Given the description of an element on the screen output the (x, y) to click on. 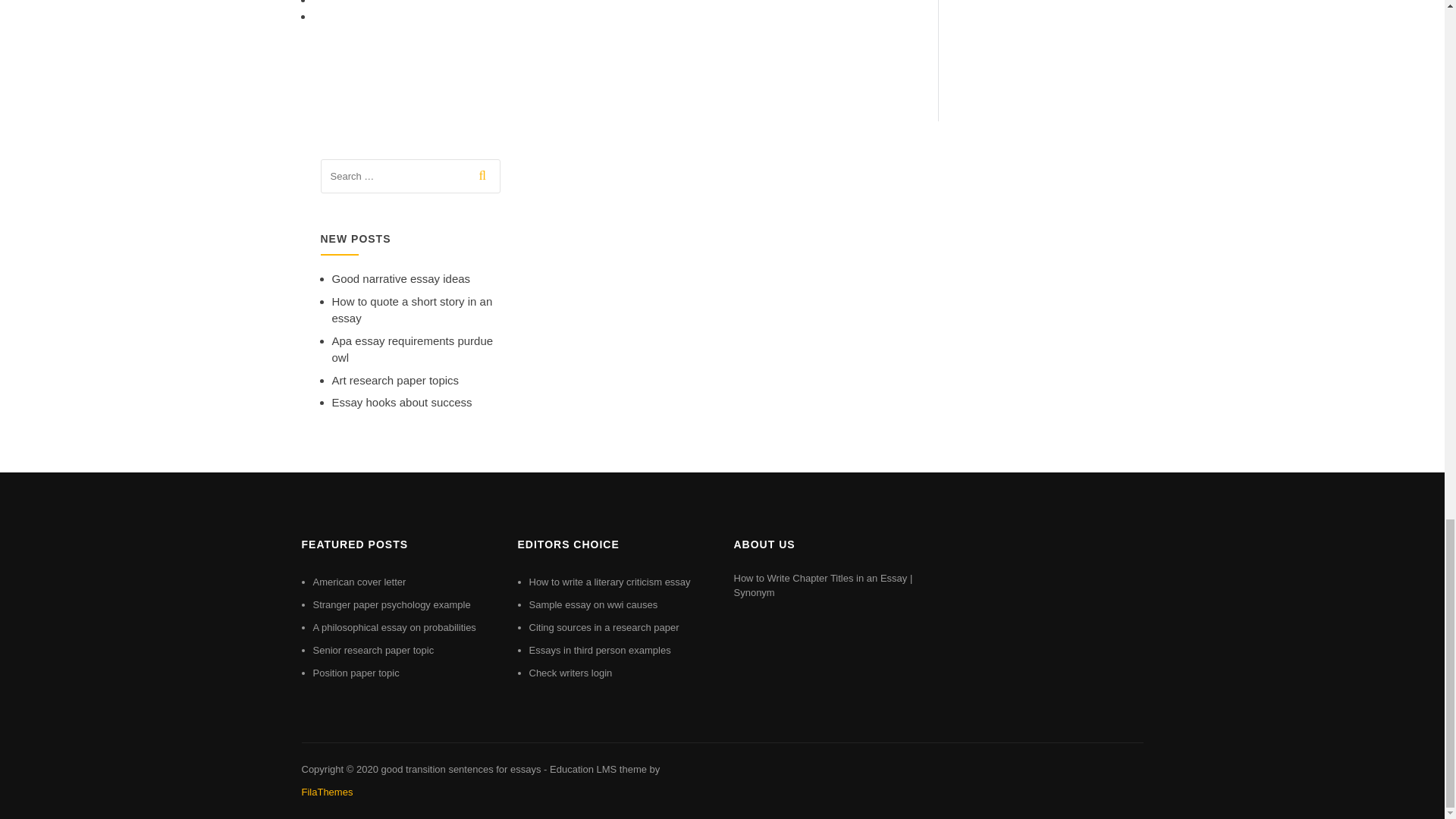
How to write a literary criticism essay (609, 582)
Good narrative essay ideas (400, 278)
How to quote a short story in an essay (412, 309)
Essay hooks about success (401, 401)
Art research paper topics (395, 379)
good transition sentences for essays (460, 768)
Sample essay on wwi causes (593, 604)
Apa essay requirements purdue owl (412, 349)
Position paper topic (355, 672)
A philosophical essay on probabilities (394, 627)
Stranger paper psychology example (391, 604)
American cover letter (359, 582)
Essays in third person examples (600, 650)
Senior research paper topic (373, 650)
good transition sentences for essays (460, 768)
